Given the description of an element on the screen output the (x, y) to click on. 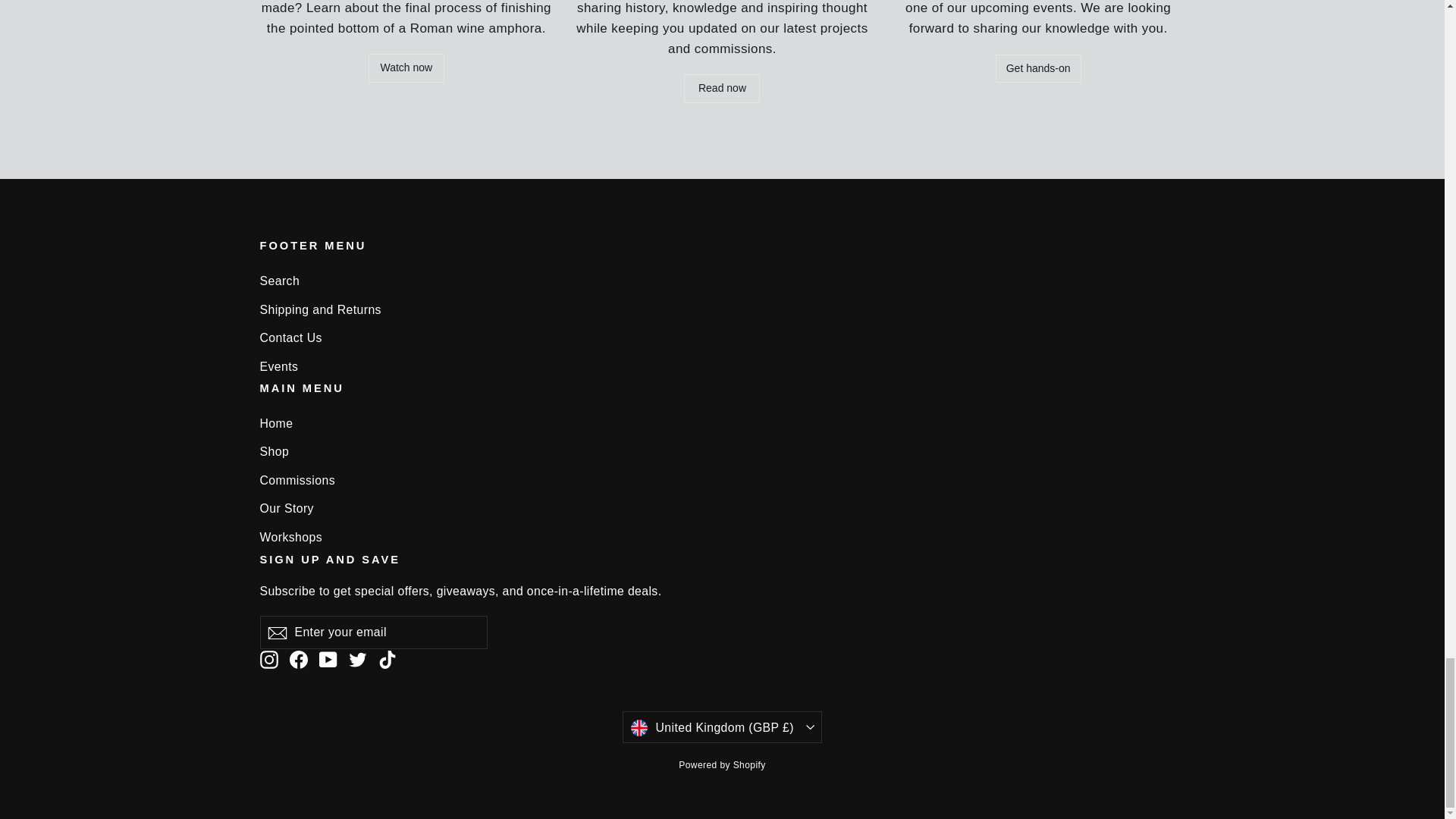
instagram (268, 659)
twitter (357, 659)
PottedHistory on YouTube (327, 659)
PottedHistory on Facebook (298, 659)
PottedHistory on Twitter (357, 659)
icon-email (276, 633)
